Given the description of an element on the screen output the (x, y) to click on. 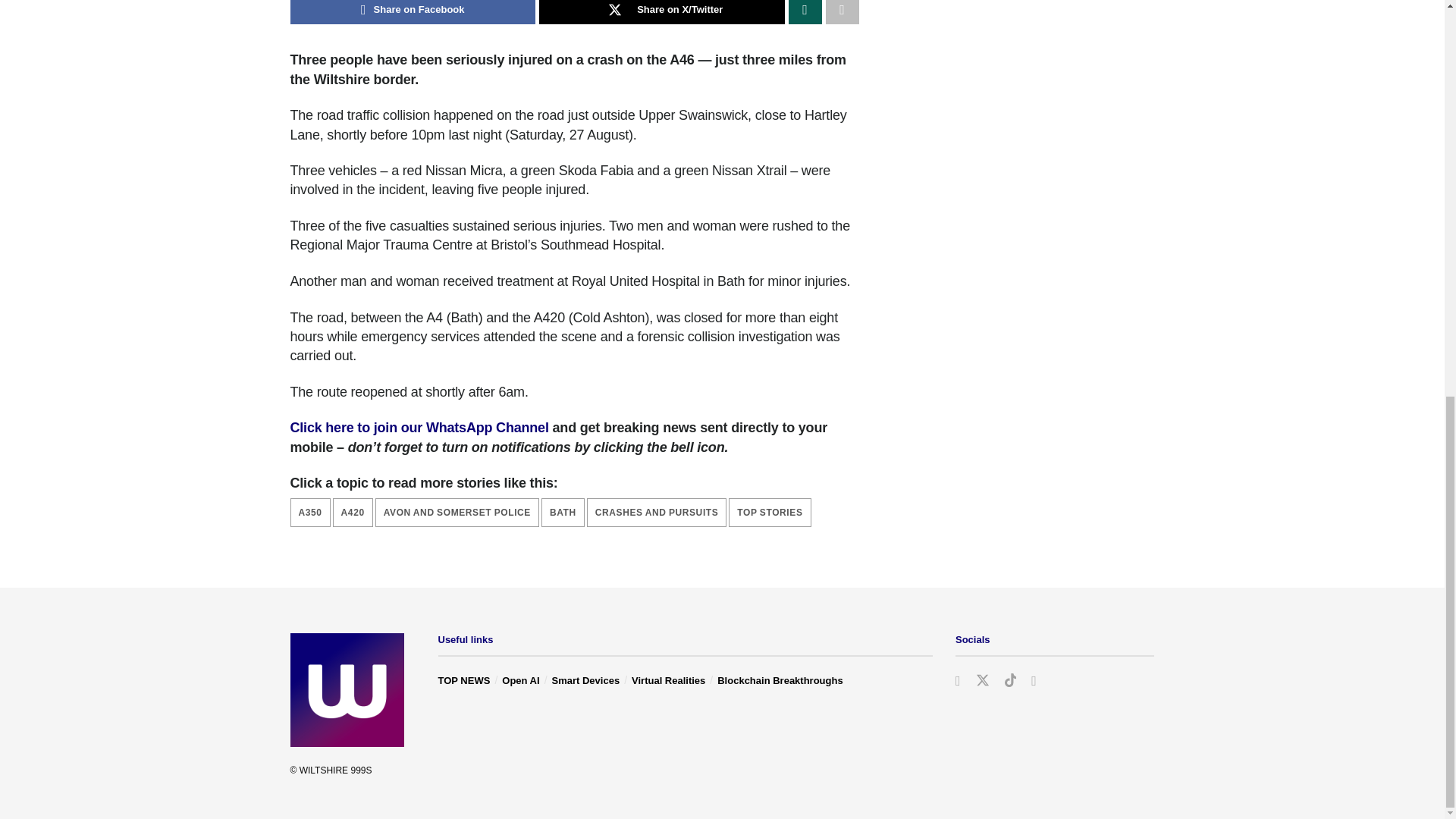
AVON AND SOMERSET POLICE (456, 512)
Share on Facebook (412, 12)
A420 (352, 512)
Click here to join our WhatsApp Channel (418, 427)
CRASHES AND PURSUITS (656, 512)
BATH (563, 512)
A350 (309, 512)
TOP STORIES (769, 512)
